Given the description of an element on the screen output the (x, y) to click on. 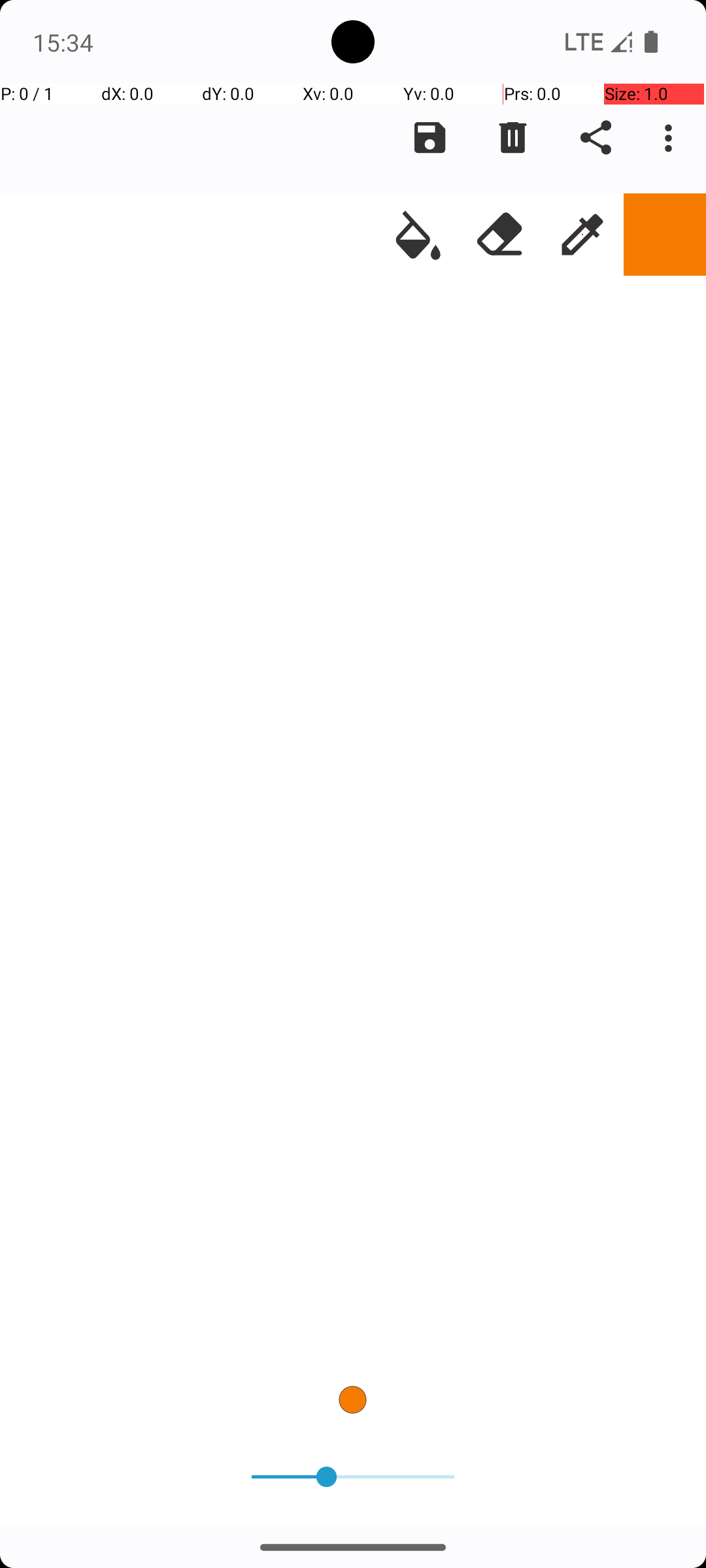
Clear Element type: android.widget.Button (512, 137)
Bucket fill Element type: android.widget.ImageView (417, 234)
Eraser Element type: android.widget.ImageView (499, 234)
Eyedropper Element type: android.widget.ImageView (582, 234)
Change color Element type: android.widget.ImageView (664, 234)
